Given the description of an element on the screen output the (x, y) to click on. 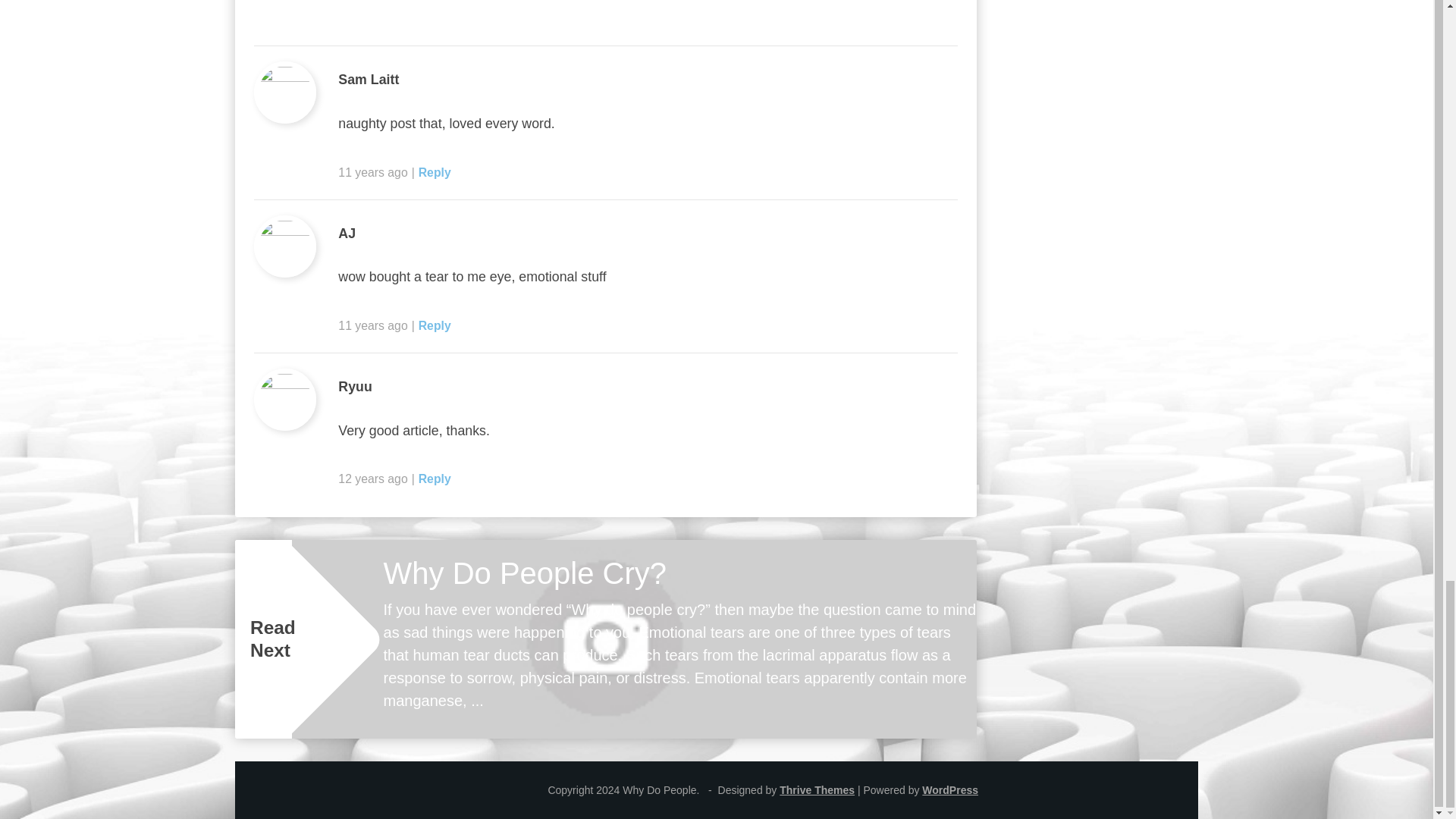
Reply (435, 171)
Reply (435, 478)
Reply (435, 325)
